Given the description of an element on the screen output the (x, y) to click on. 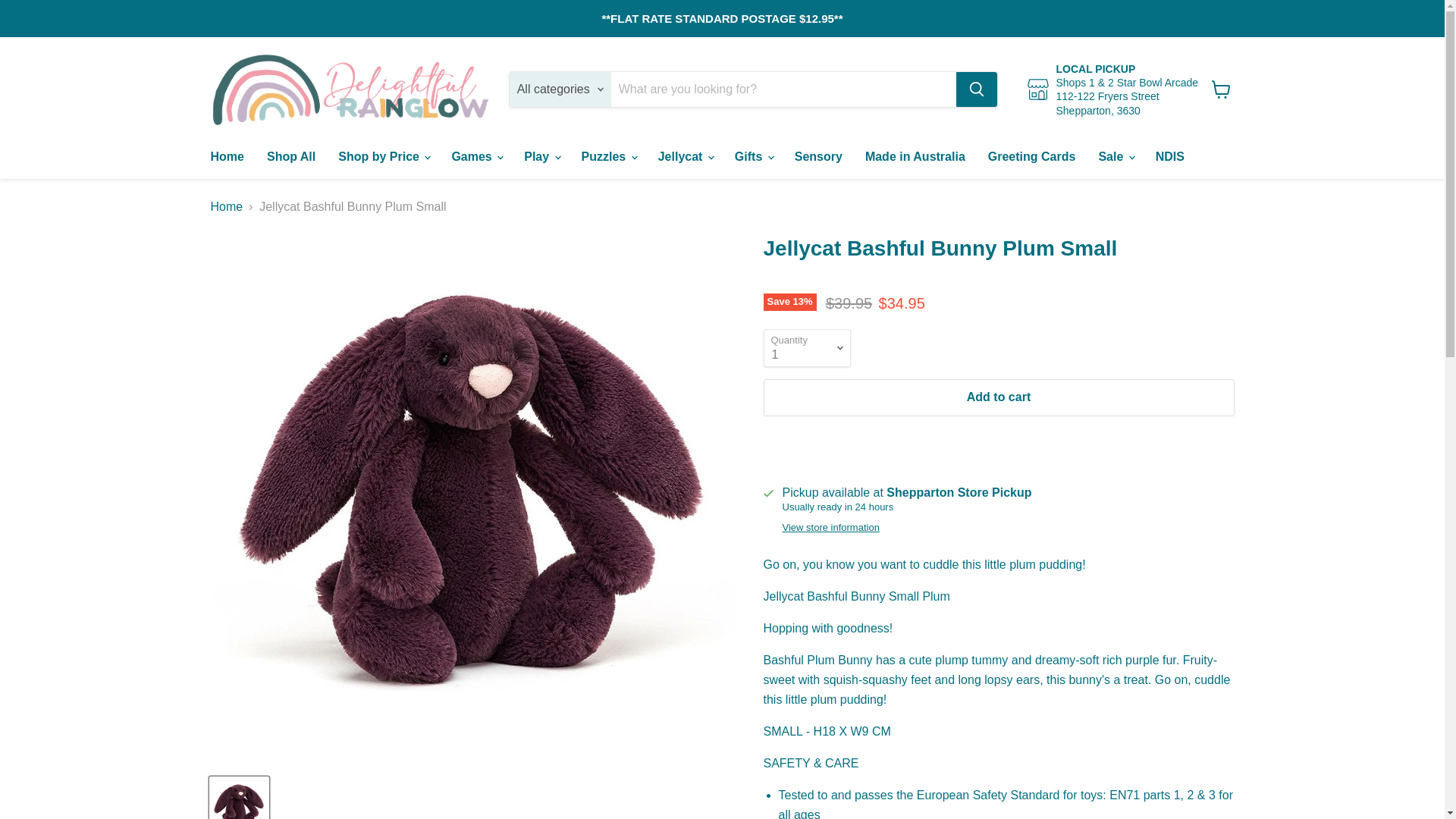
Play (540, 156)
Home (226, 156)
View cart (1221, 89)
Shop by Price (382, 156)
Games (475, 156)
Shop All (291, 156)
